Given the description of an element on the screen output the (x, y) to click on. 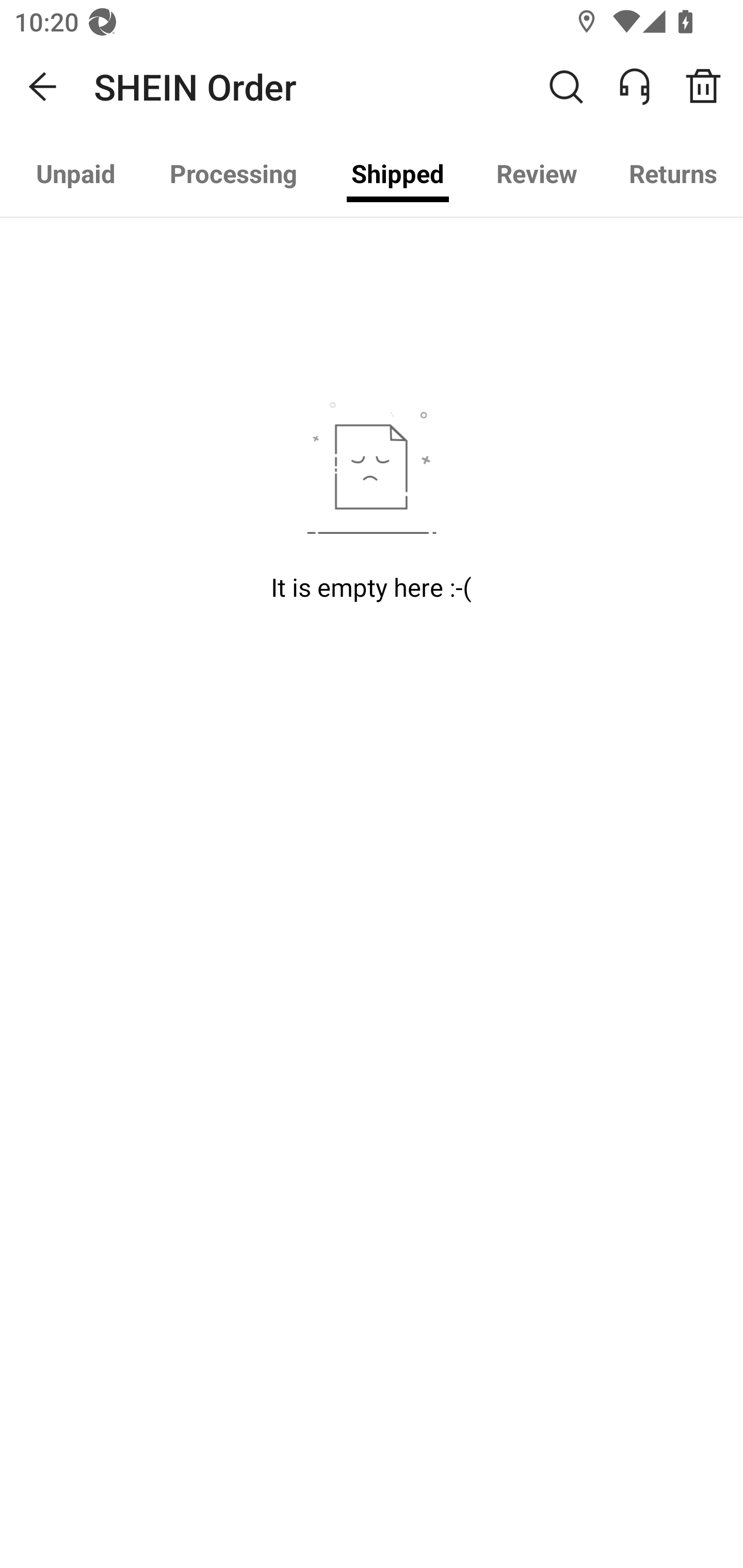
Navigate up (43, 86)
Search (565, 86)
ONLINE SERVICE (644, 86)
Order Recycle Bin (710, 86)
Unpaid (76, 173)
Processing (233, 173)
Shipped (397, 173)
Review (536, 173)
Returns (672, 173)
